Given the description of an element on the screen output the (x, y) to click on. 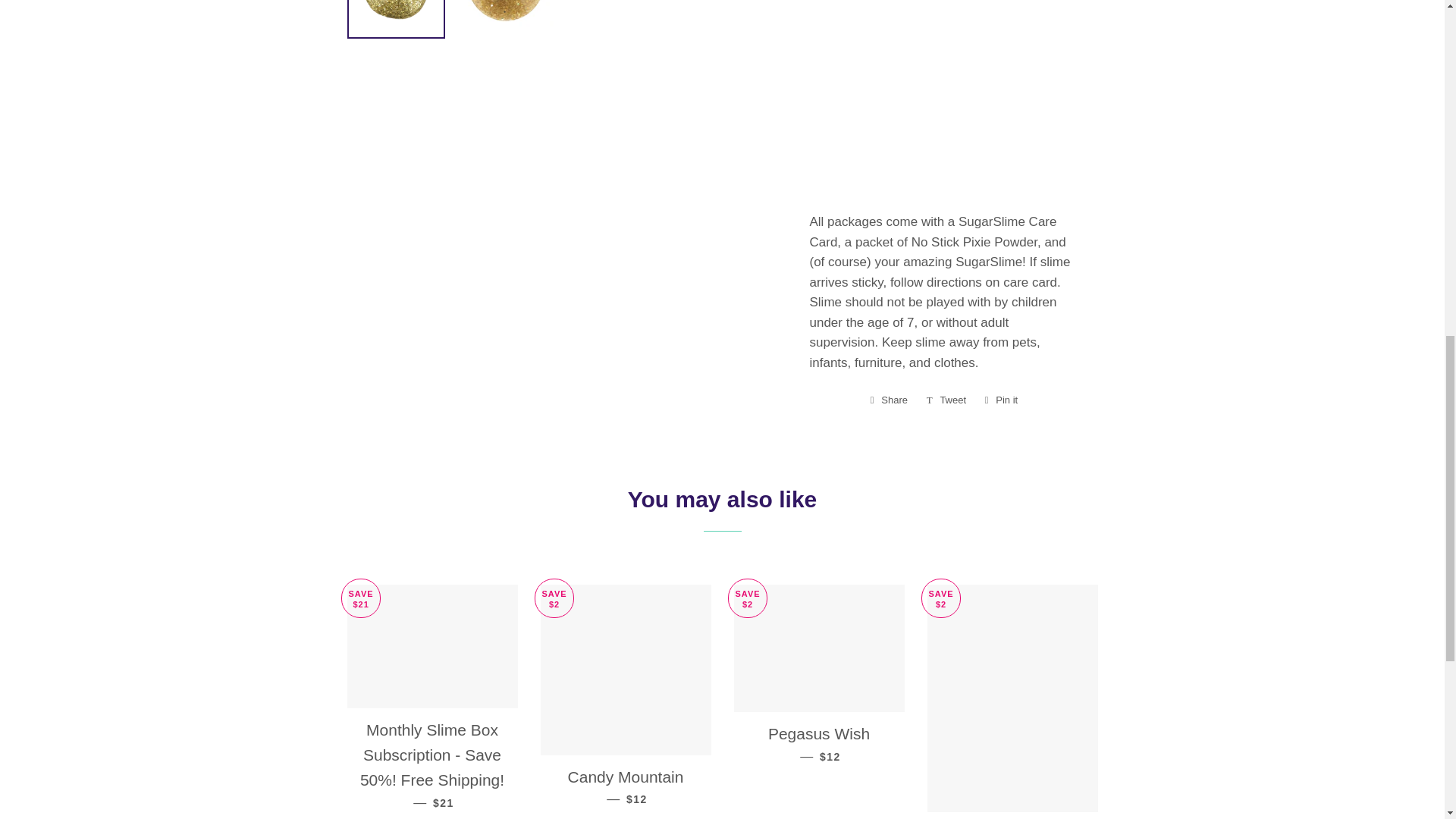
Tweet on Twitter (946, 400)
Share on Facebook (946, 400)
Pin on Pinterest (889, 400)
